Given the description of an element on the screen output the (x, y) to click on. 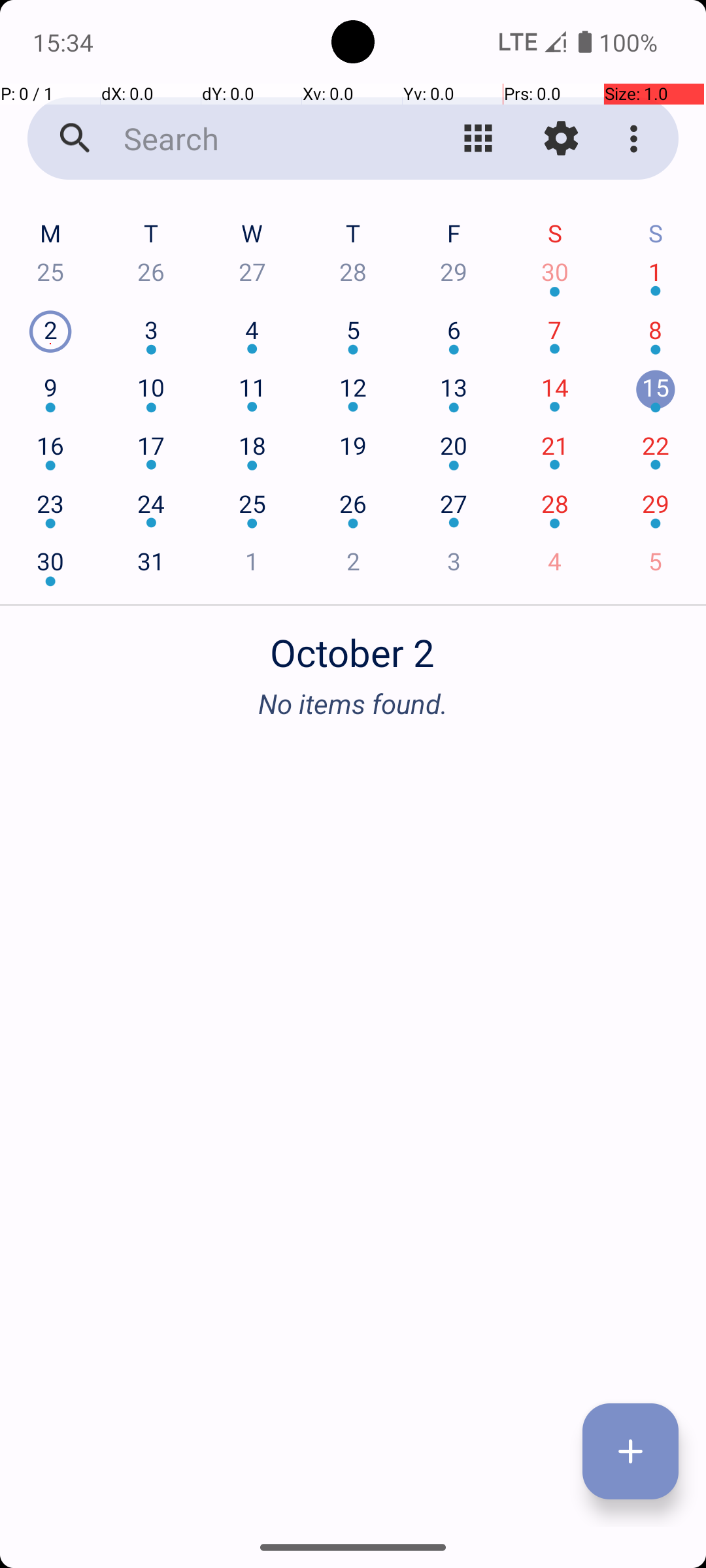
October 2 Element type: android.widget.TextView (352, 644)
